Given the description of an element on the screen output the (x, y) to click on. 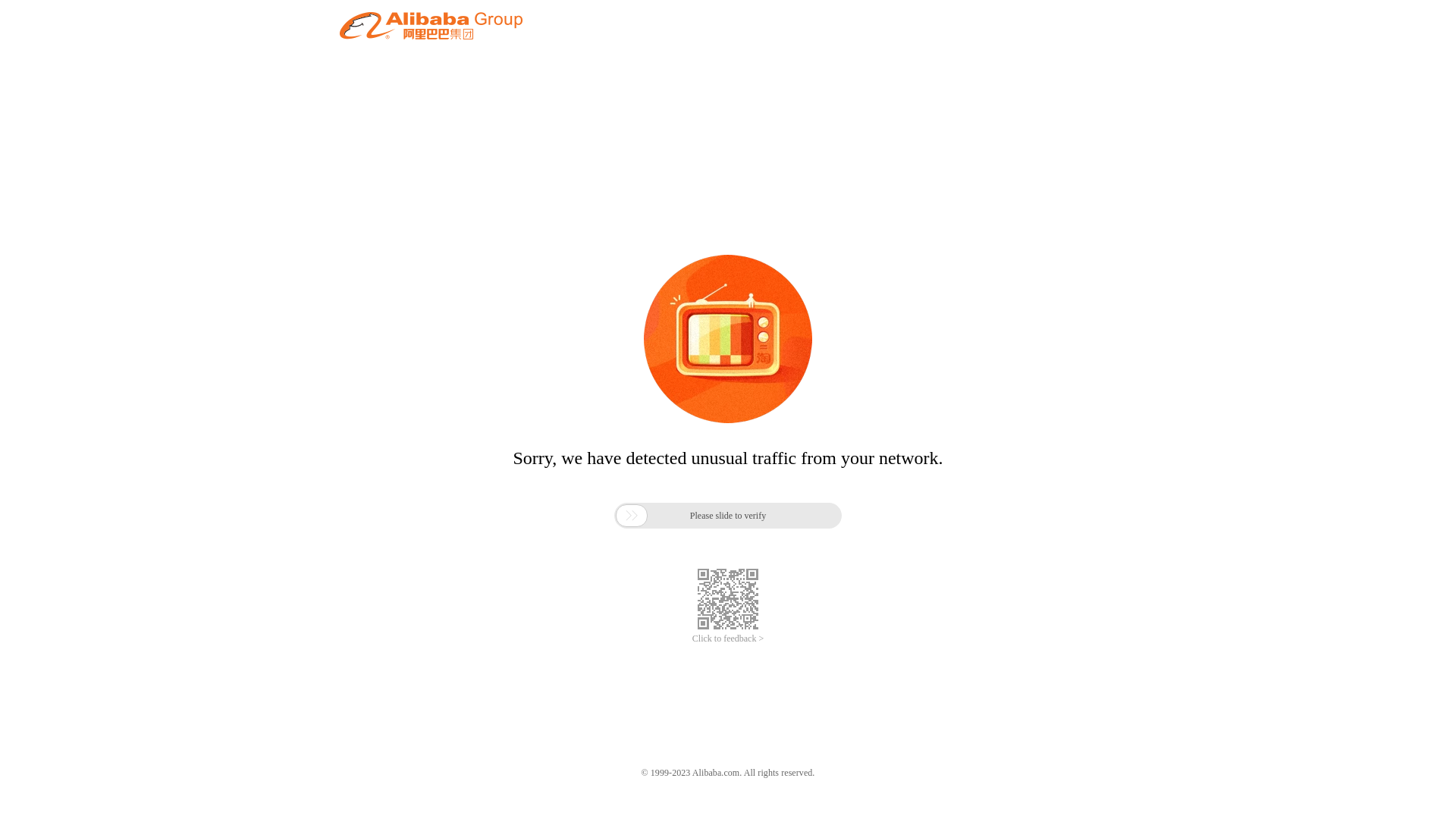
Click to feedback > Element type: text (727, 638)
